Given the description of an element on the screen output the (x, y) to click on. 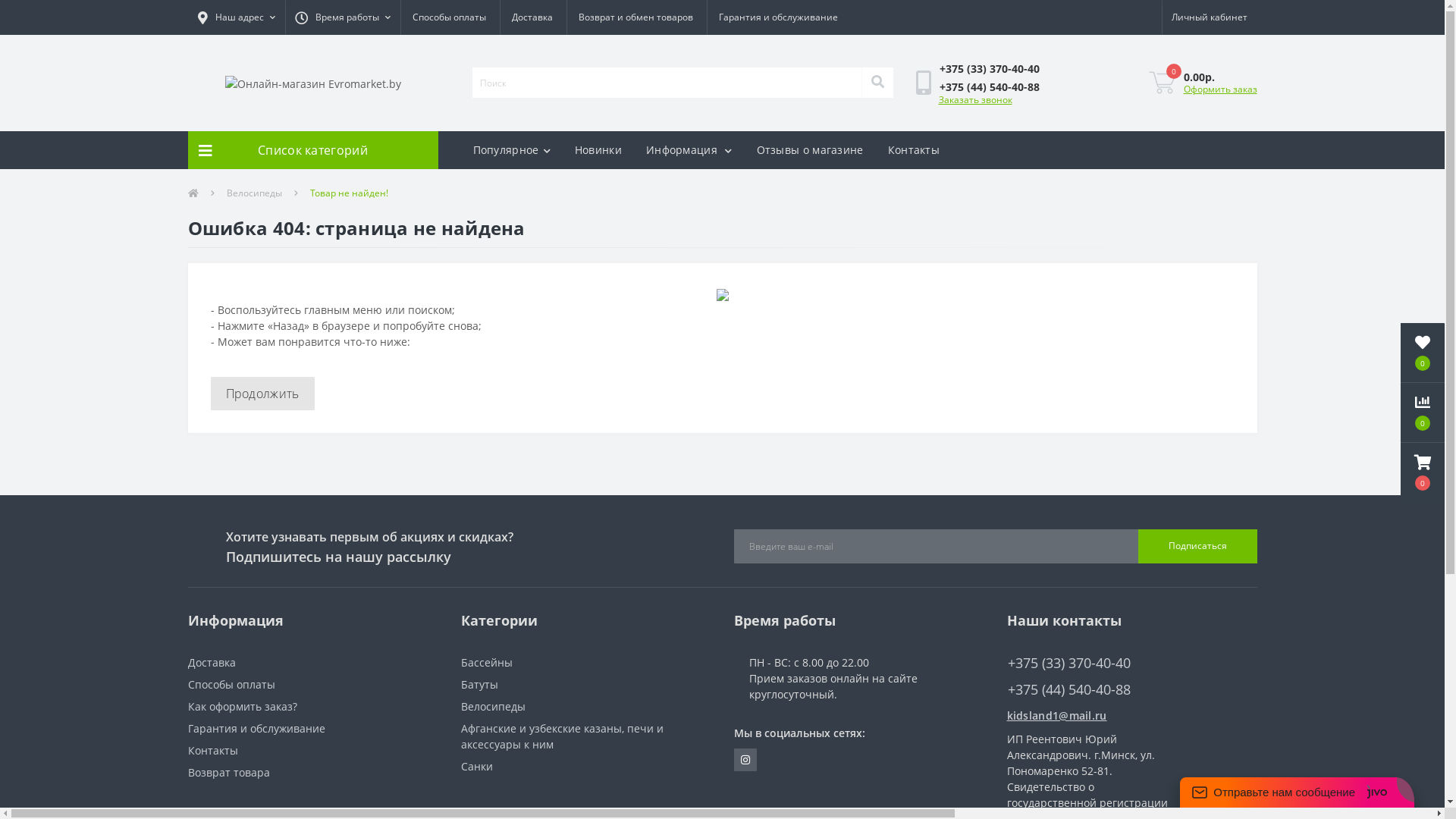
+375 (44) 540-40-88 Element type: text (989, 85)
0 Element type: text (1161, 82)
0 Element type: text (1422, 352)
kidsland1@mail.ru Element type: text (1132, 714)
0 Element type: text (1422, 472)
+375 (44) 540-40-88 Element type: text (1132, 689)
0 Element type: text (1422, 412)
+375 (33) 370-40-40 Element type: text (989, 68)
+375 (33) 370-40-40 Element type: text (1132, 662)
